Given the description of an element on the screen output the (x, y) to click on. 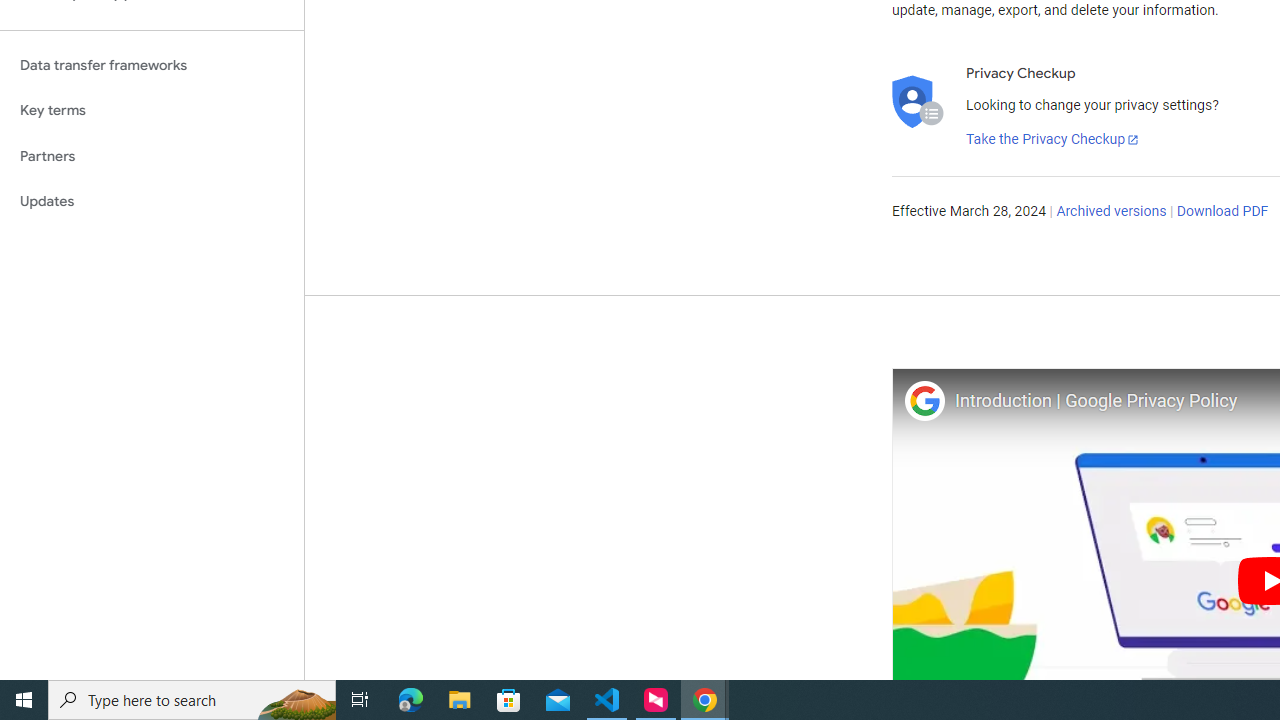
Archived versions (1111, 212)
Data transfer frameworks (152, 65)
Take the Privacy Checkup (1053, 140)
Partners (152, 156)
Key terms (152, 110)
Photo image of Google (924, 400)
Download PDF (1222, 212)
